Given the description of an element on the screen output the (x, y) to click on. 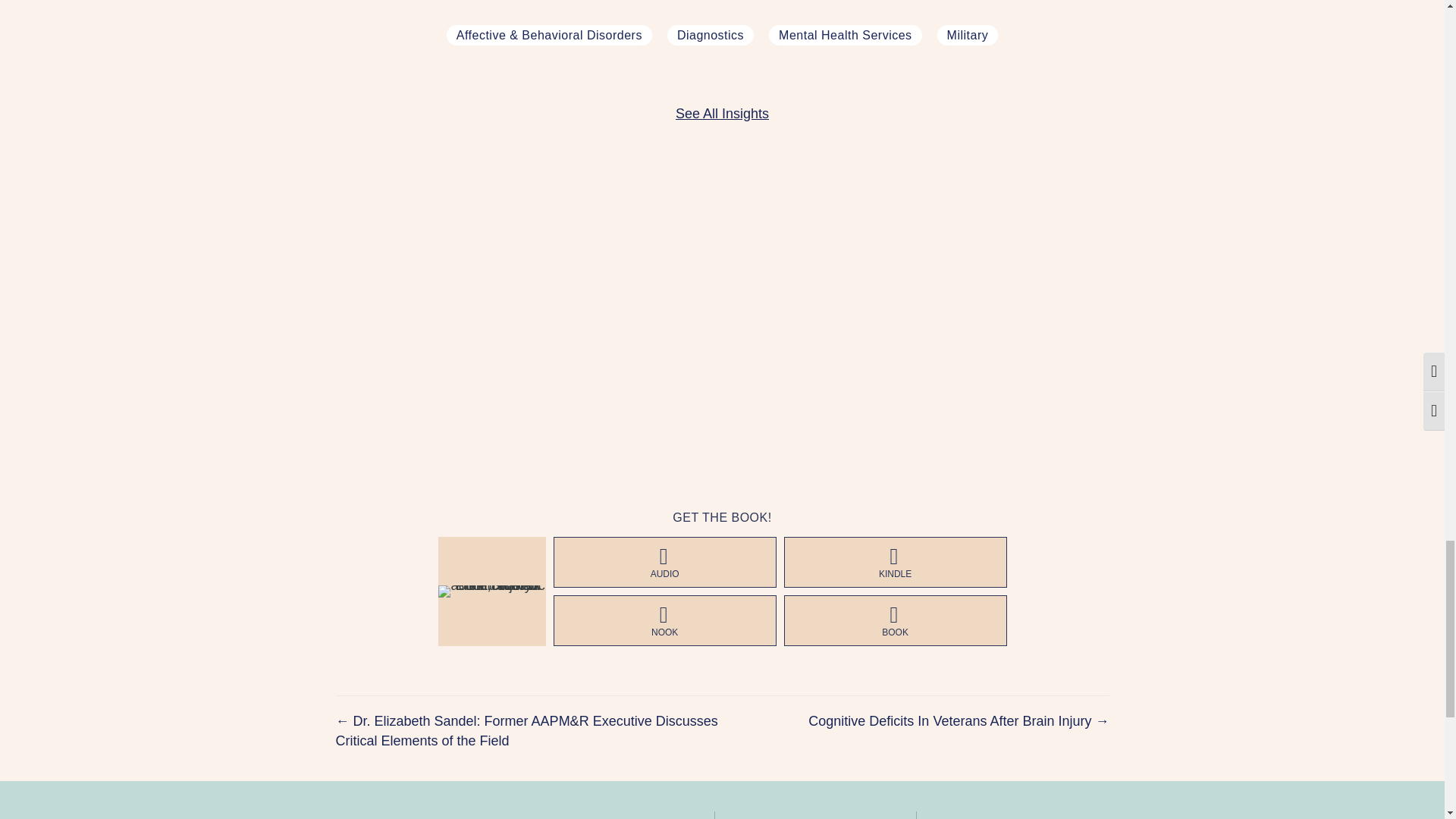
book-front (492, 591)
Military (967, 35)
Diagnostics (710, 35)
Mental Health Services (844, 35)
See All Insights (721, 113)
